Given the description of an element on the screen output the (x, y) to click on. 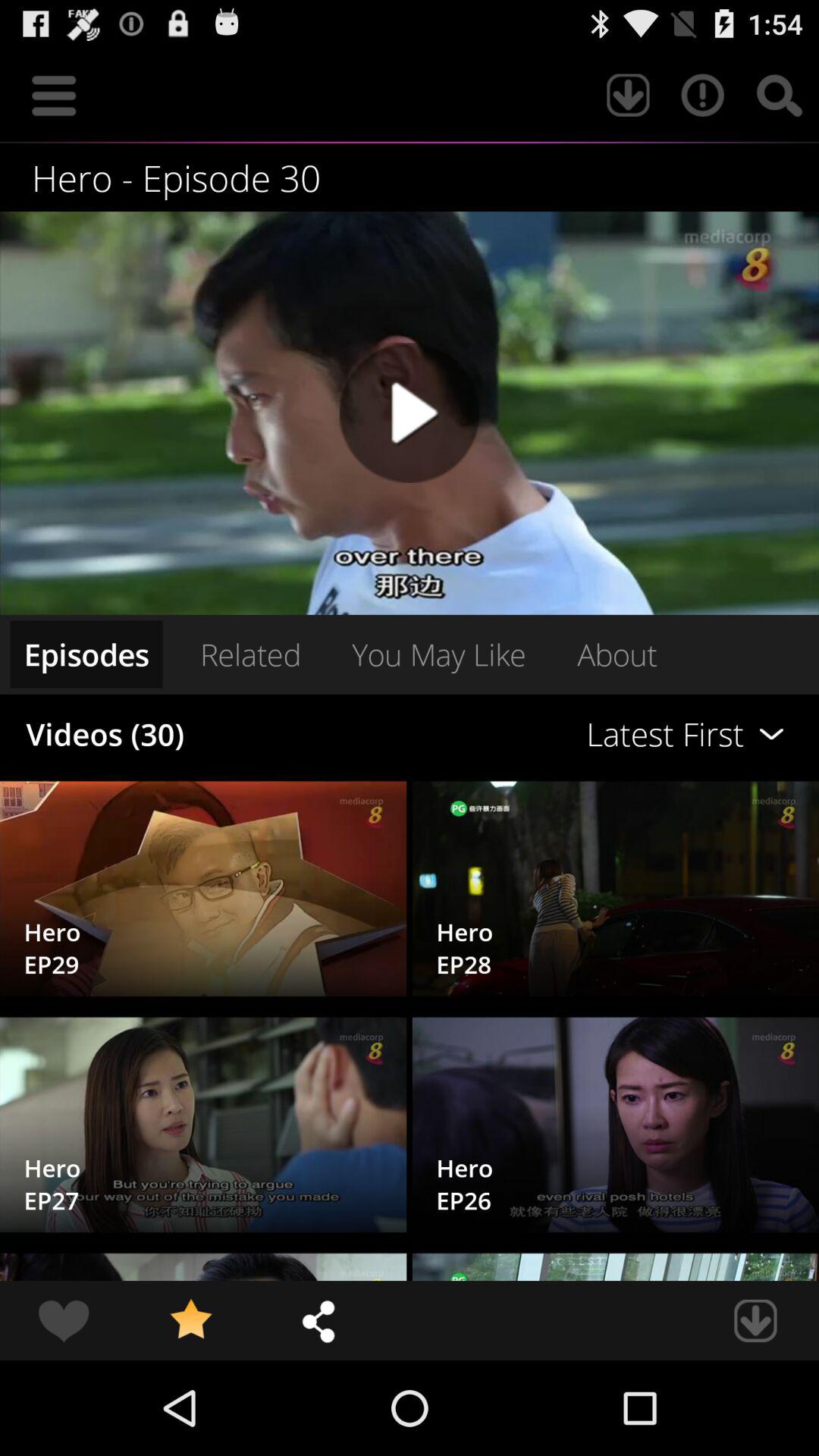
press icon at the top left corner (53, 95)
